Given the description of an element on the screen output the (x, y) to click on. 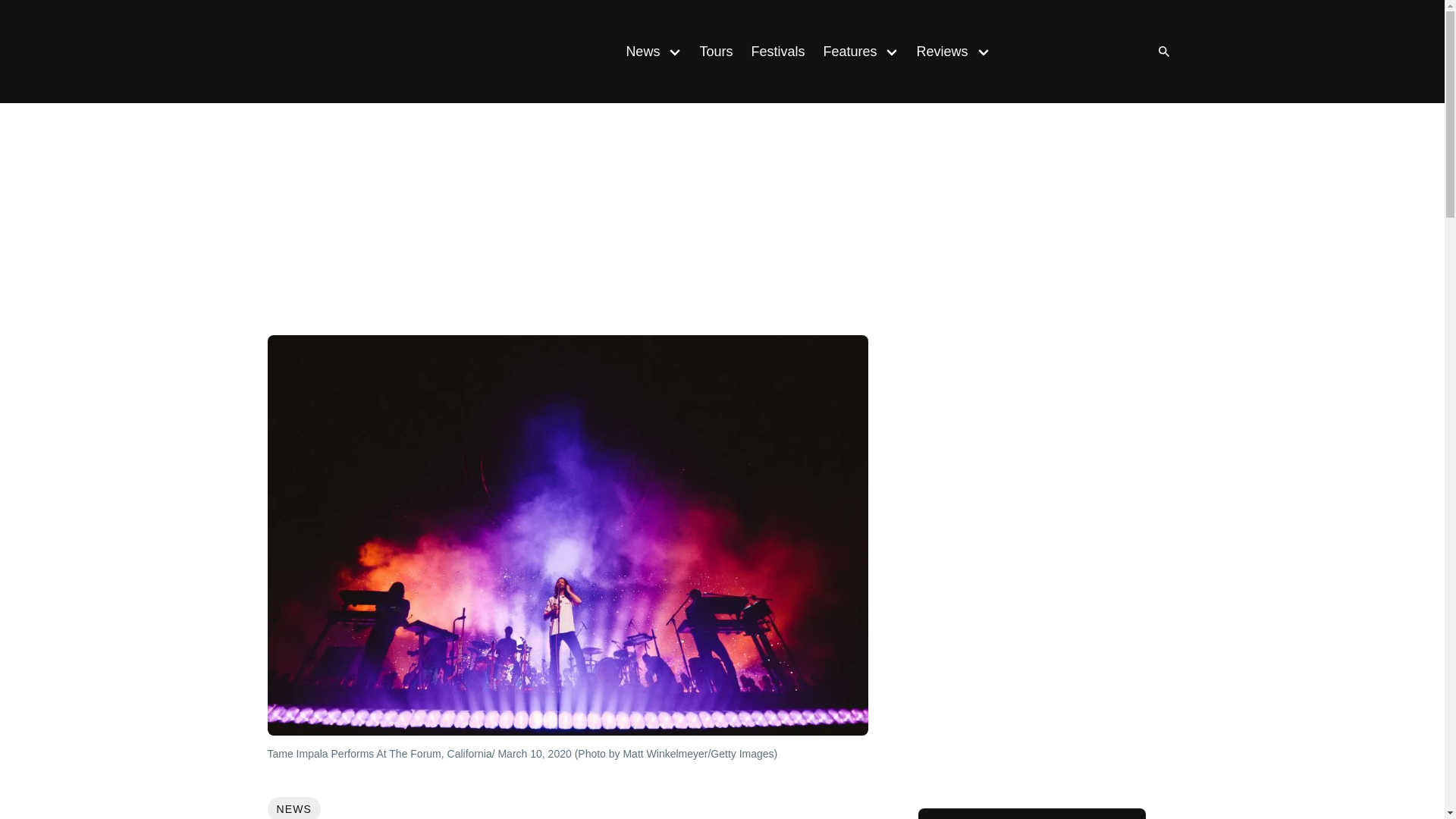
Instagram (1048, 51)
Tours (715, 51)
Features (844, 51)
Open menu (891, 51)
3rd party ad content (721, 222)
Open menu (674, 51)
Reviews (937, 51)
Twitter (1109, 51)
Open menu (982, 51)
Facebook (1079, 51)
